Given the description of an element on the screen output the (x, y) to click on. 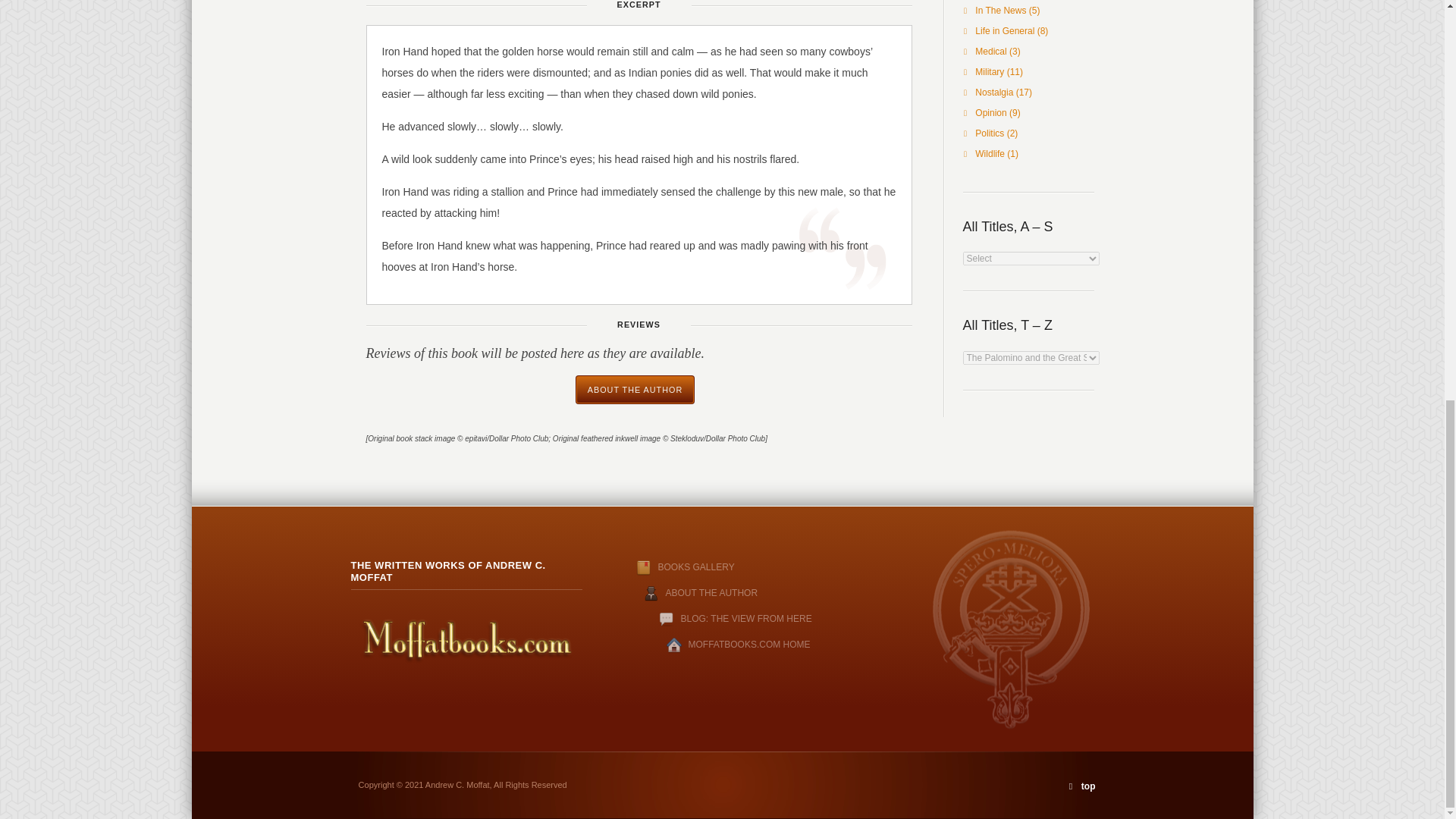
About the Author (634, 389)
Military (989, 71)
ABOUT THE AUTHOR (634, 389)
Medical (990, 50)
Wildlife (989, 153)
ABOUT THE AUTHOR (711, 593)
BLOG: THE VIEW FROM HERE (746, 618)
Nostalgia (994, 91)
BOOKS GALLERY (670, 566)
Life in General (1004, 30)
Opinion (990, 112)
In The News (1000, 9)
Politics (989, 132)
